Given the description of an element on the screen output the (x, y) to click on. 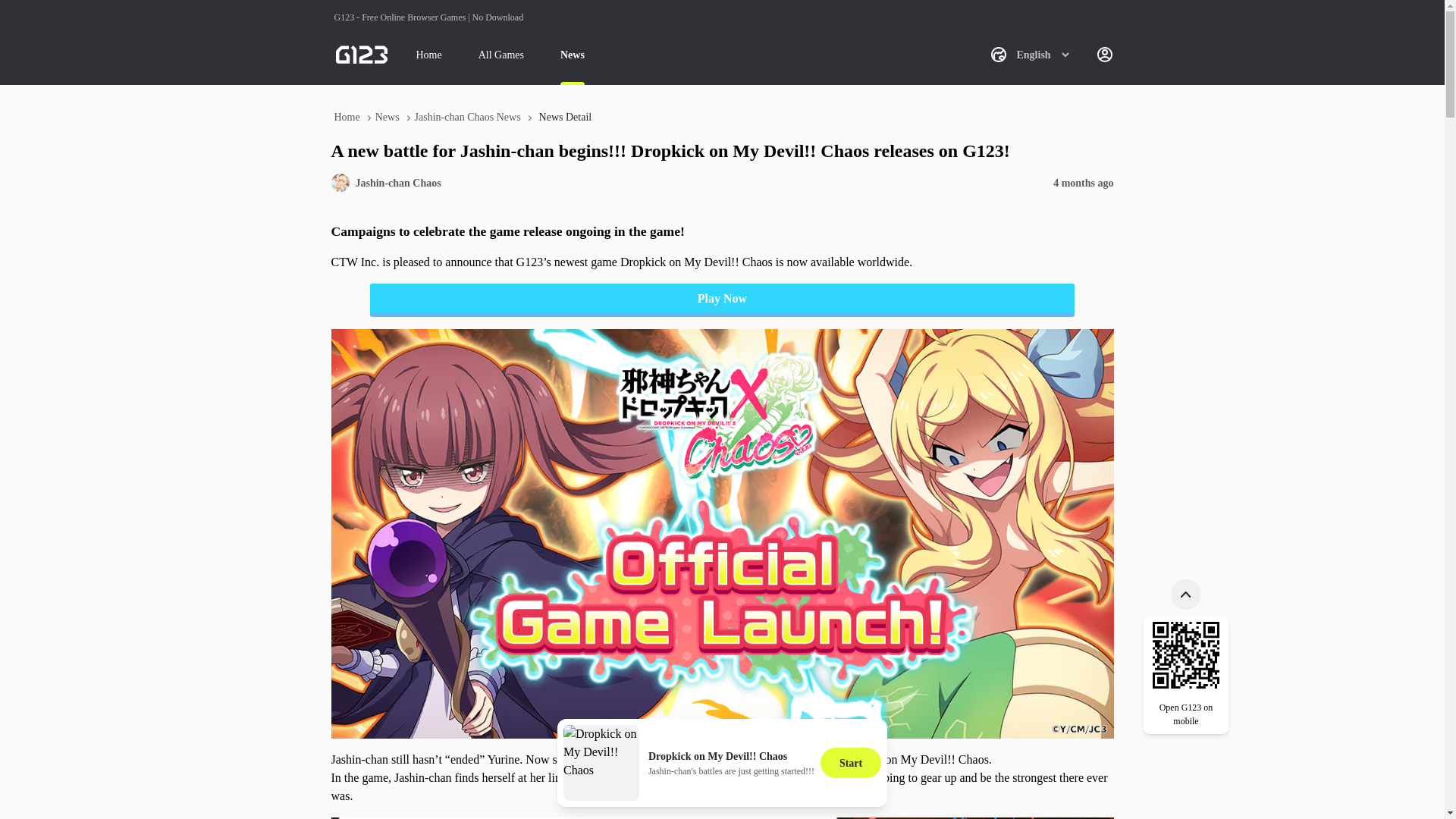
Jashin-chan Chaos (398, 182)
Home (346, 116)
News Detail (565, 116)
Home (427, 54)
Jashin-chan Chaos News (468, 116)
News (387, 116)
News (572, 54)
Play Now (721, 299)
All Games (501, 54)
